Given the description of an element on the screen output the (x, y) to click on. 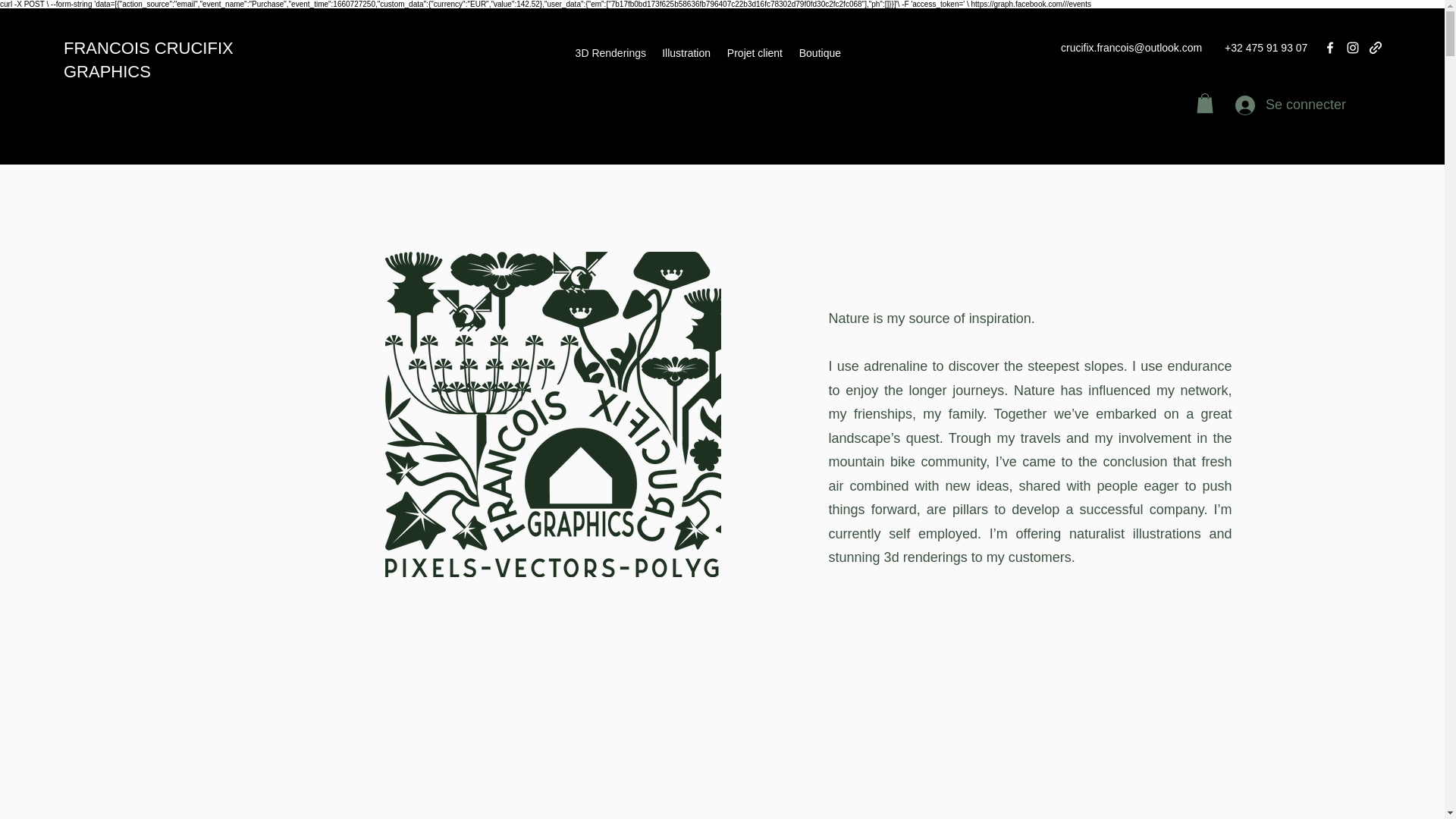
Se connecter (1270, 105)
Projet client (753, 52)
3D Renderings (609, 52)
Boutique (819, 52)
Illustration (685, 52)
FRANCOIS CRUCIFIX GRAPHICS (148, 59)
